Given the description of an element on the screen output the (x, y) to click on. 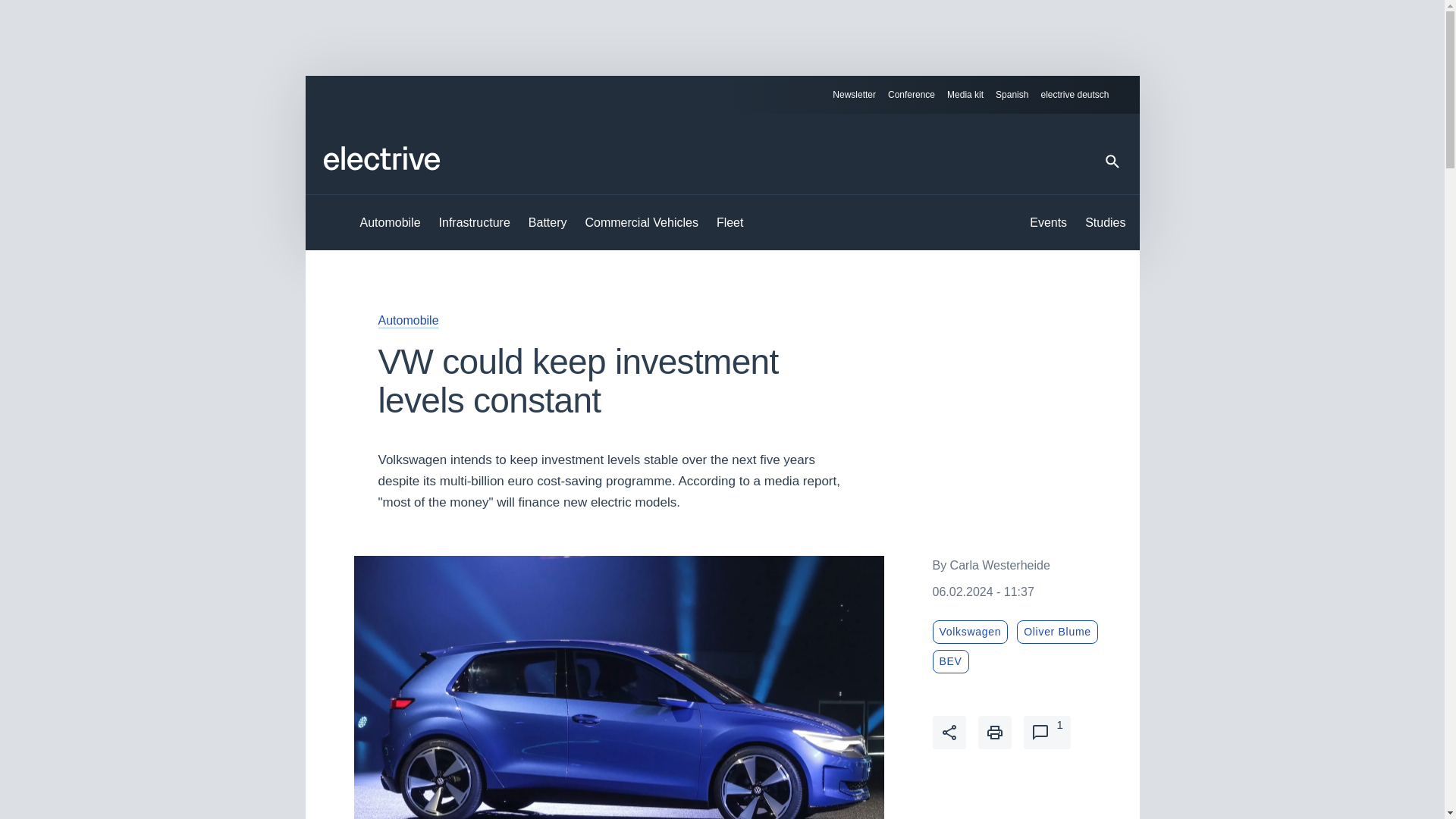
Kommentare (1046, 732)
Automobile (407, 319)
Oliver Blume (1056, 631)
Spanish (1011, 95)
Battery (547, 223)
Teilen (949, 732)
Events (1048, 223)
Studies (1104, 223)
Fleet (730, 223)
BEV (951, 661)
